Given the description of an element on the screen output the (x, y) to click on. 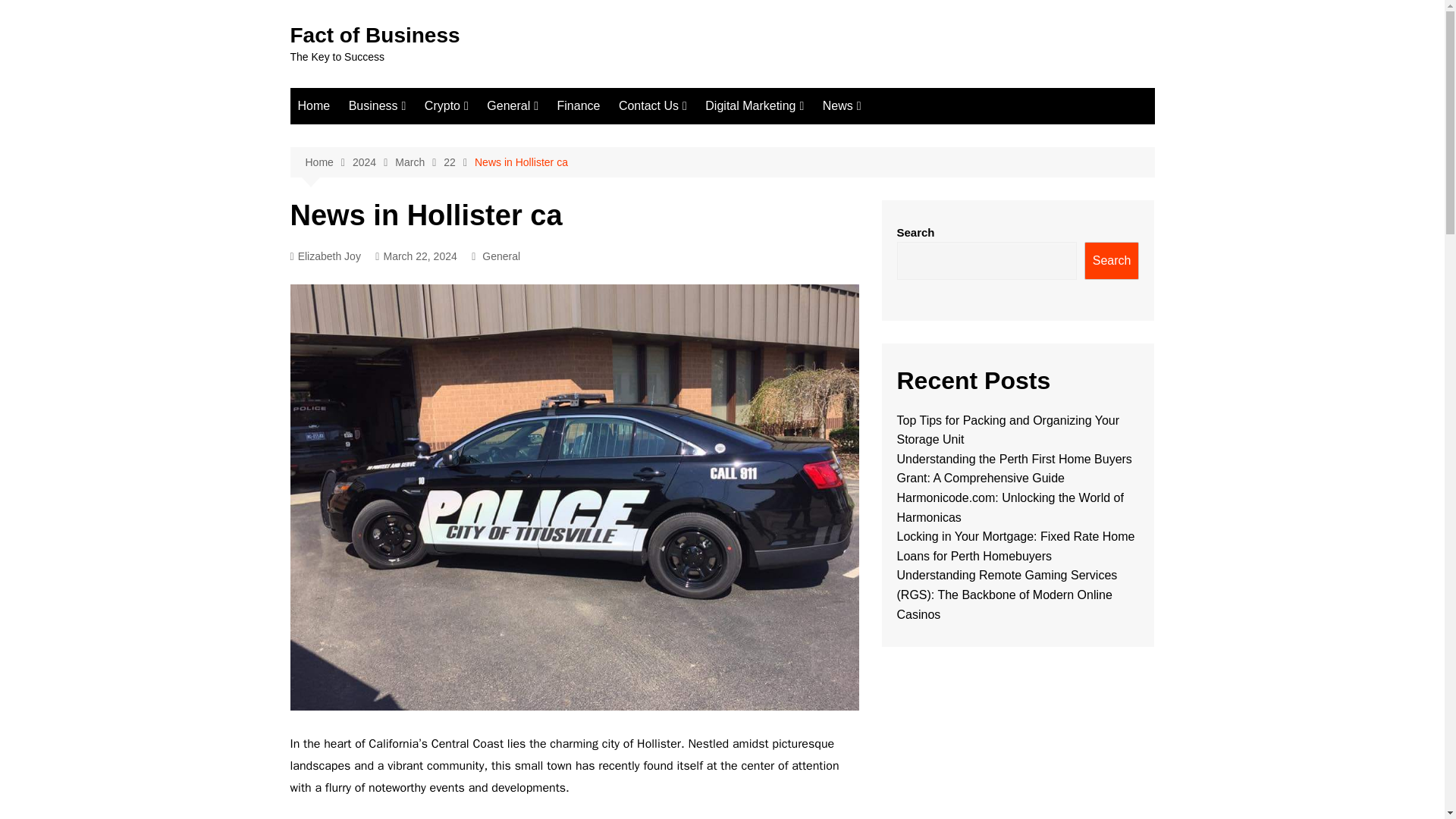
Accounting (562, 136)
Customer Service (729, 236)
PR (780, 186)
Finance (577, 105)
Consulting (729, 186)
General (512, 105)
Digital Marketing (753, 105)
Outsourcing (591, 161)
NetWorth (424, 162)
Advertising (729, 211)
Binance (499, 136)
Content Marketing (780, 136)
Business (376, 105)
Insurance (424, 136)
Human Resources (729, 261)
